Given the description of an element on the screen output the (x, y) to click on. 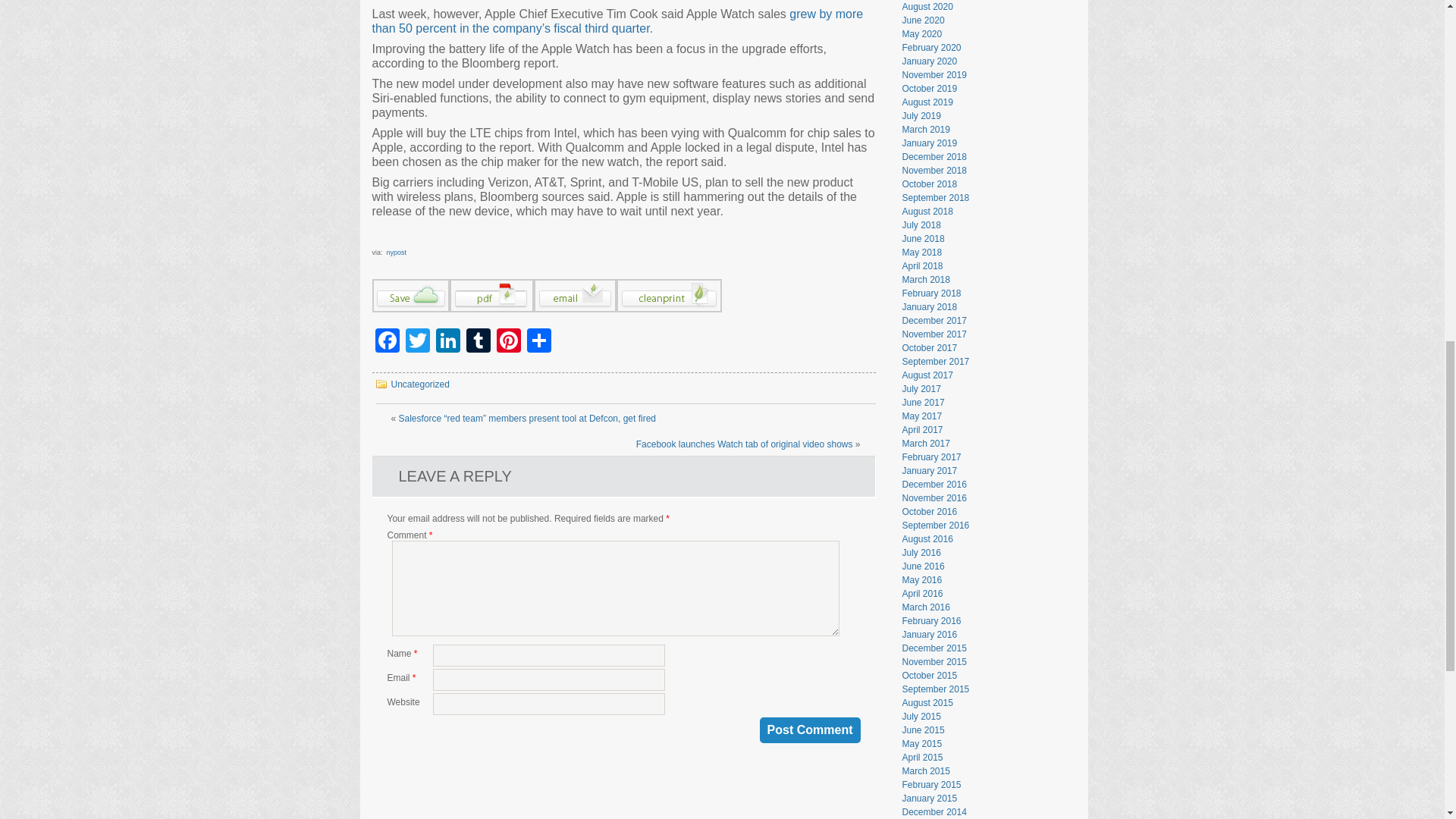
LinkedIn (447, 342)
Tumblr (478, 342)
Post Comment (810, 729)
Twitter (416, 342)
Uncategorized (420, 384)
LinkedIn (447, 342)
nypost (397, 251)
Facebook launches Watch tab of original video shows (744, 443)
Facebook (386, 342)
Post Comment (810, 729)
